Given the description of an element on the screen output the (x, y) to click on. 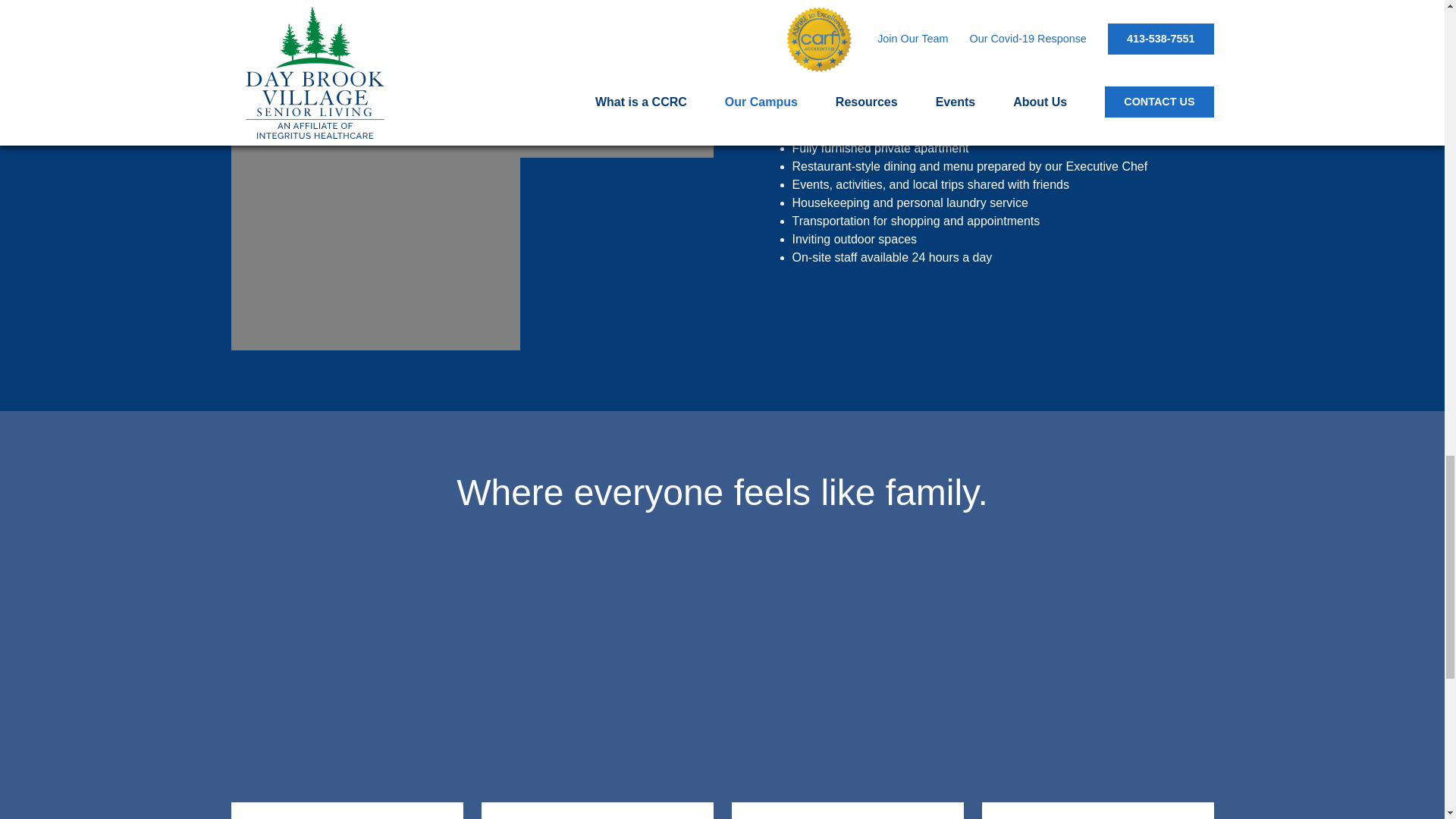
Independent Living (346, 696)
